Given the description of an element on the screen output the (x, y) to click on. 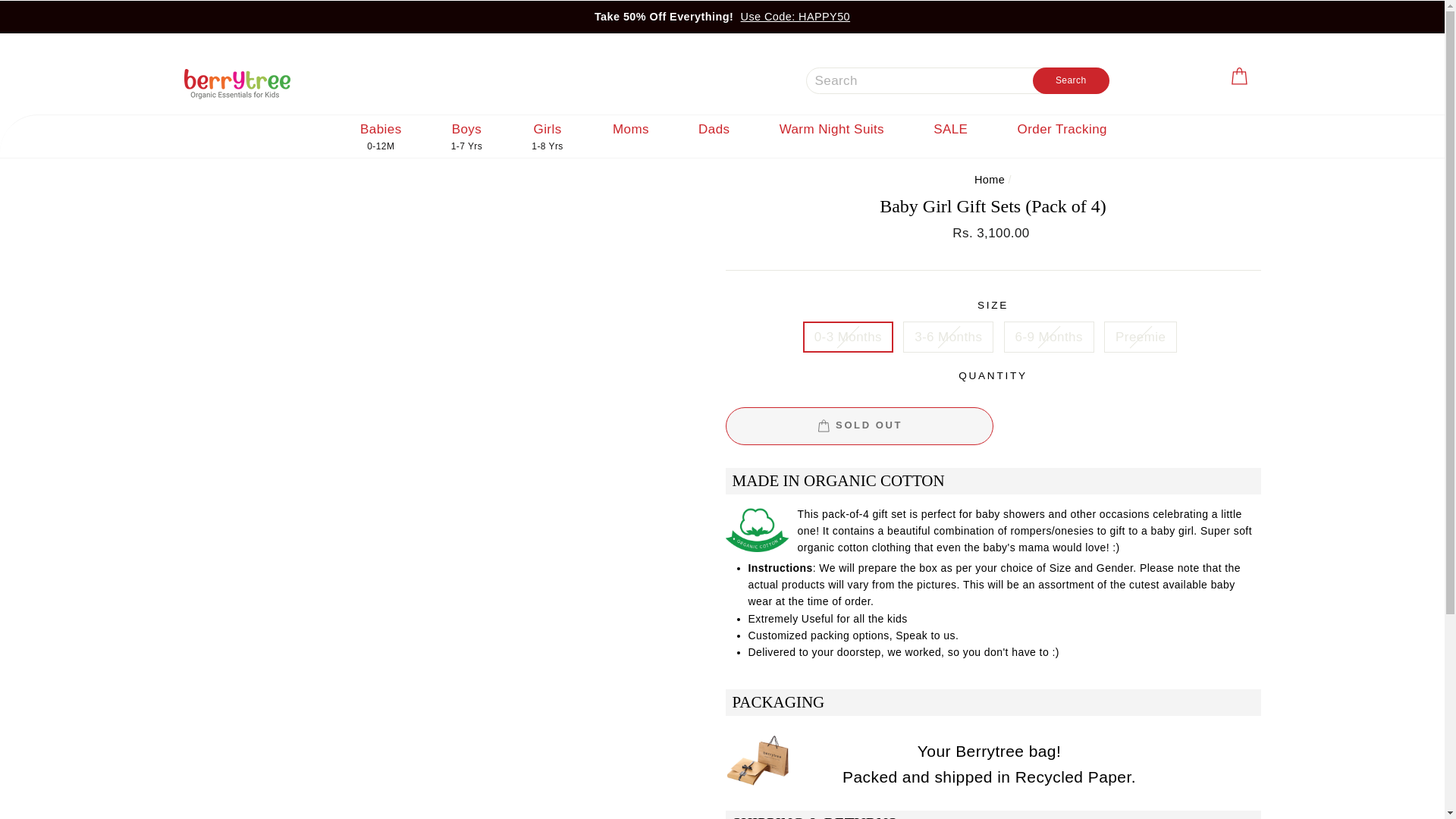
Back to the frontpage (989, 179)
